Given the description of an element on the screen output the (x, y) to click on. 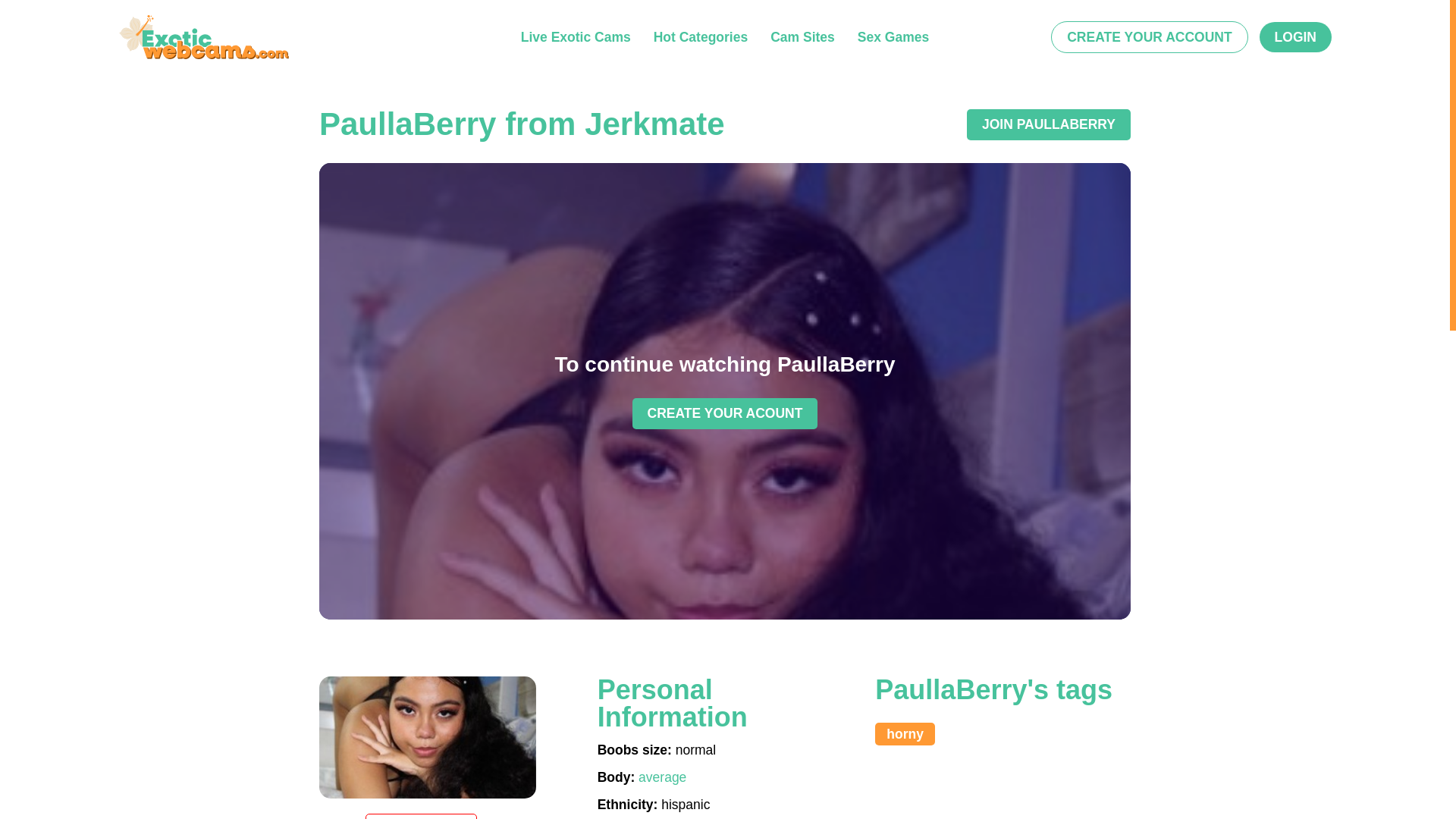
Cam Sites (802, 36)
CREATE YOUR ACOUNT (724, 413)
LOGIN (1295, 36)
Sex Games (892, 36)
average (662, 776)
horny (904, 733)
Hot Categories (700, 36)
Live Exotic Cams (575, 36)
CREATE YOUR ACCOUNT (1149, 37)
JOIN PAULLABERRY (1048, 124)
